Given the description of an element on the screen output the (x, y) to click on. 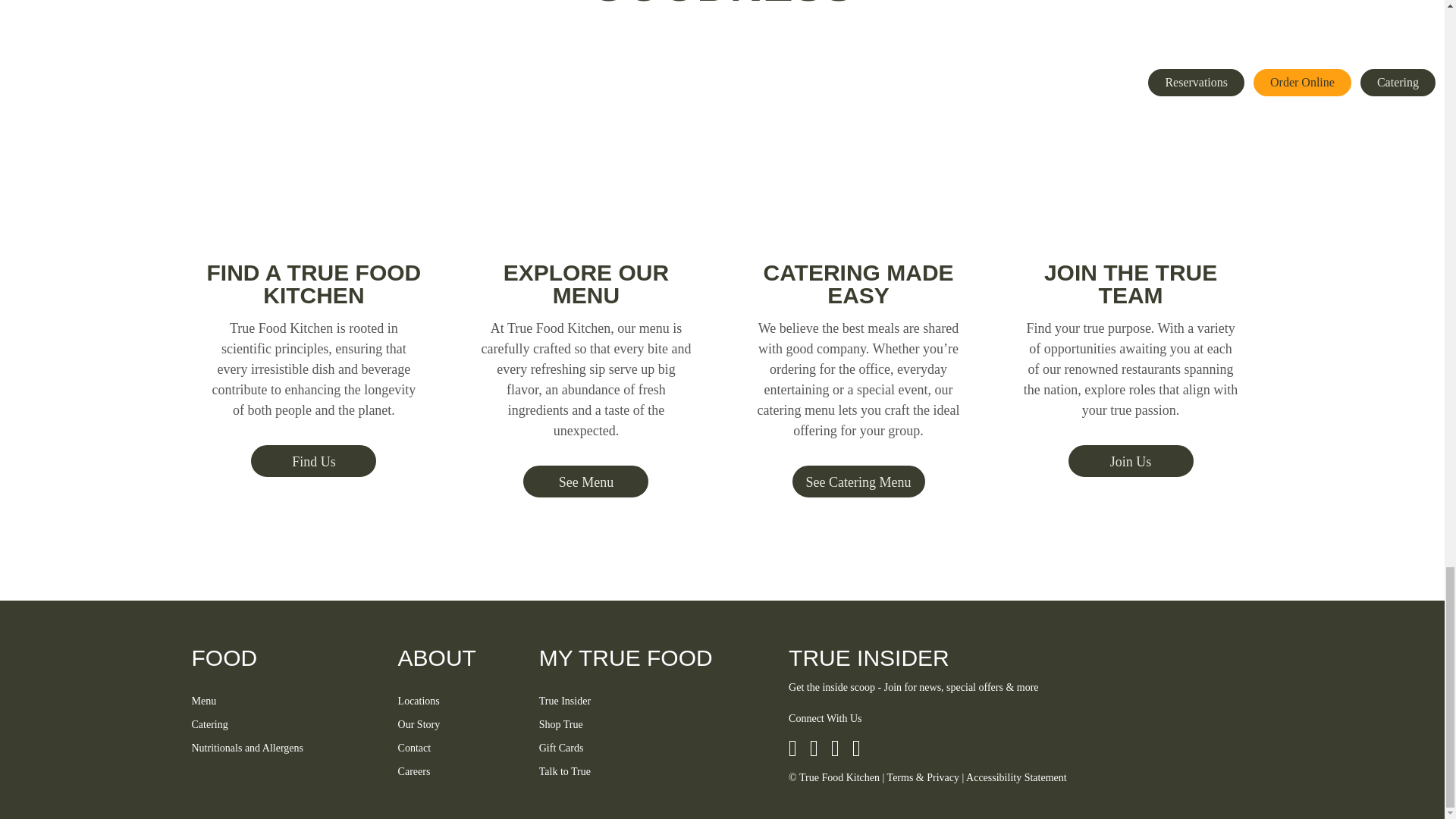
Careers (456, 771)
Find Us (312, 460)
Menu (281, 700)
Contact (456, 747)
See Menu (584, 481)
Our Story (456, 724)
Catering (281, 724)
Join Us (1130, 460)
True Insider (651, 700)
Locations (456, 700)
Nutritionals and Allergens (281, 747)
See Catering Menu (858, 481)
